Given the description of an element on the screen output the (x, y) to click on. 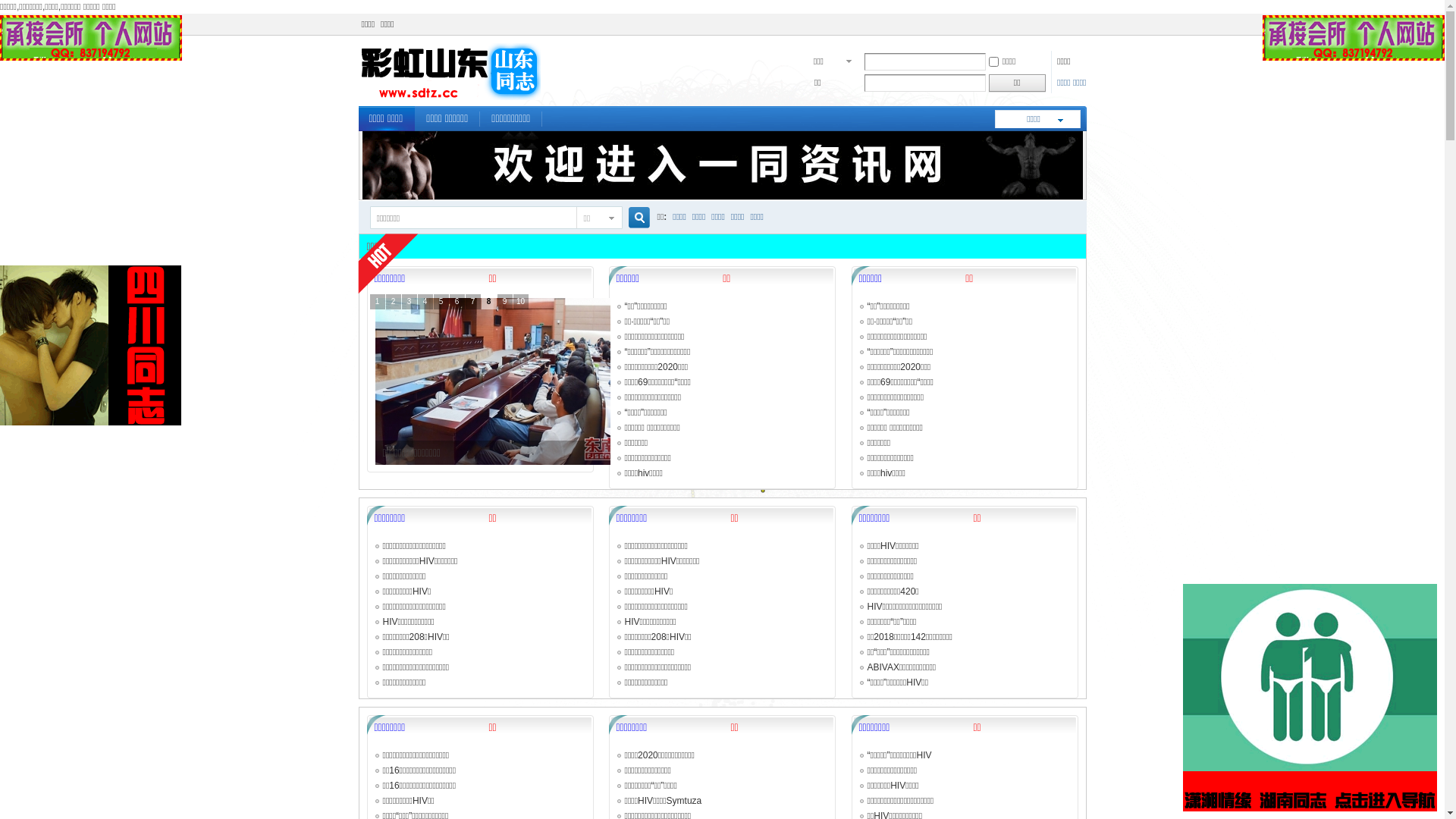
true Element type: text (632, 217)
